Given the description of an element on the screen output the (x, y) to click on. 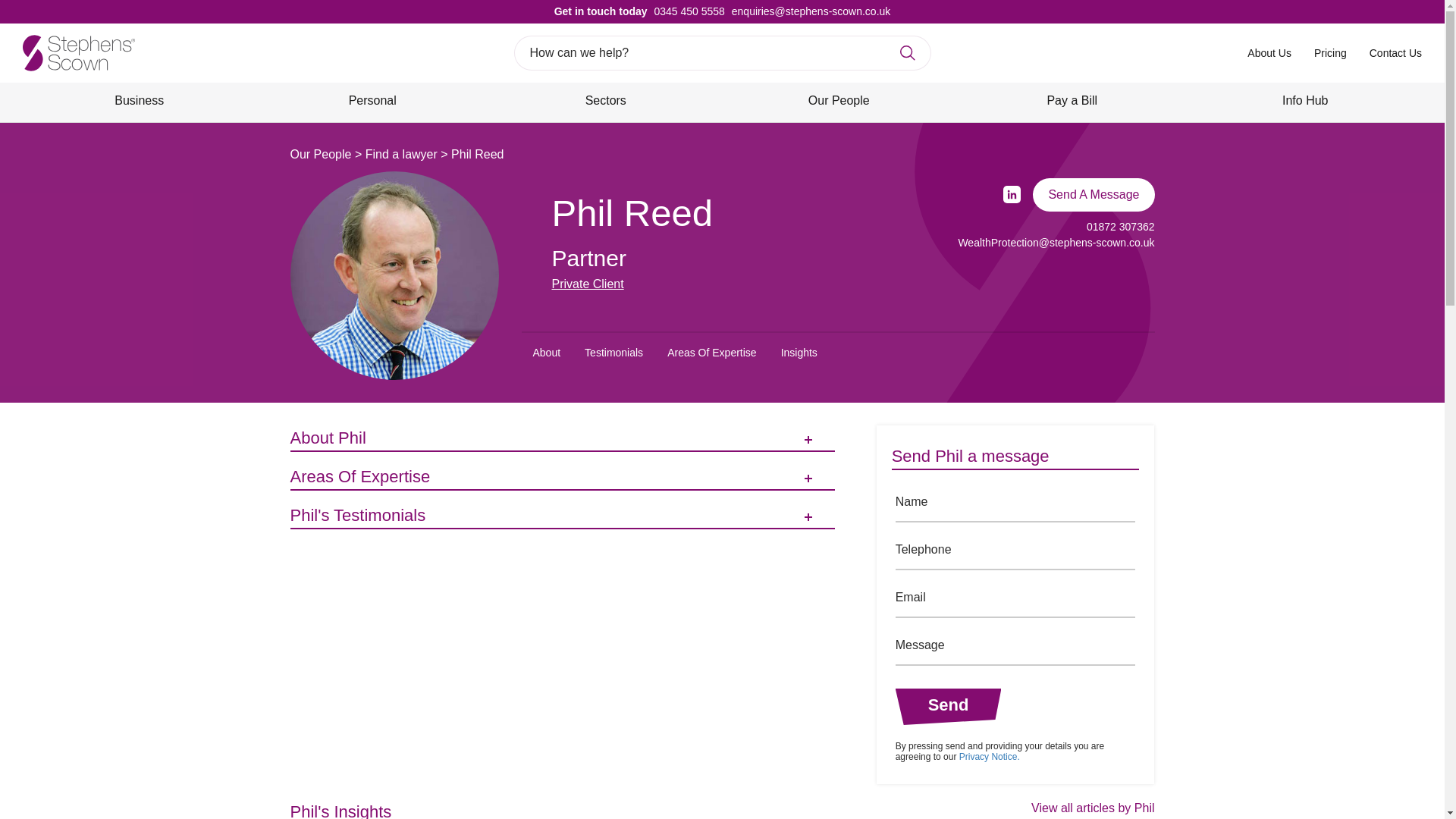
Send (948, 706)
Contact Us (1396, 52)
0345 450 5558 (686, 10)
Pricing (1330, 52)
About Us (1269, 52)
